Given the description of an element on the screen output the (x, y) to click on. 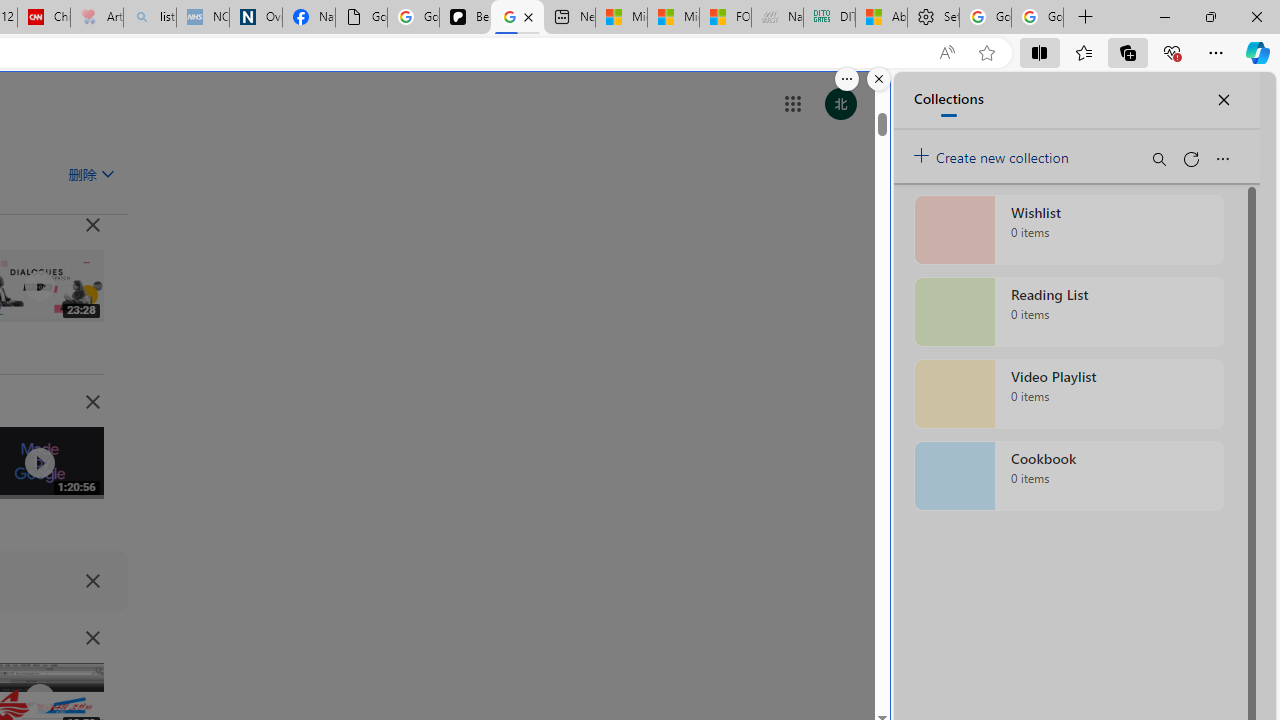
Collections (1128, 52)
Settings and more (Alt+F) (1215, 52)
New Tab (1085, 17)
Favorites (1083, 52)
Copilot (Ctrl+Shift+.) (1258, 52)
Class: DI7Mnf NMm5M (91, 580)
DITOGAMES AG Imprint (829, 17)
Split screen (1039, 52)
Google Analytics Opt-out Browser Add-on Download Page (360, 17)
